Given the description of an element on the screen output the (x, y) to click on. 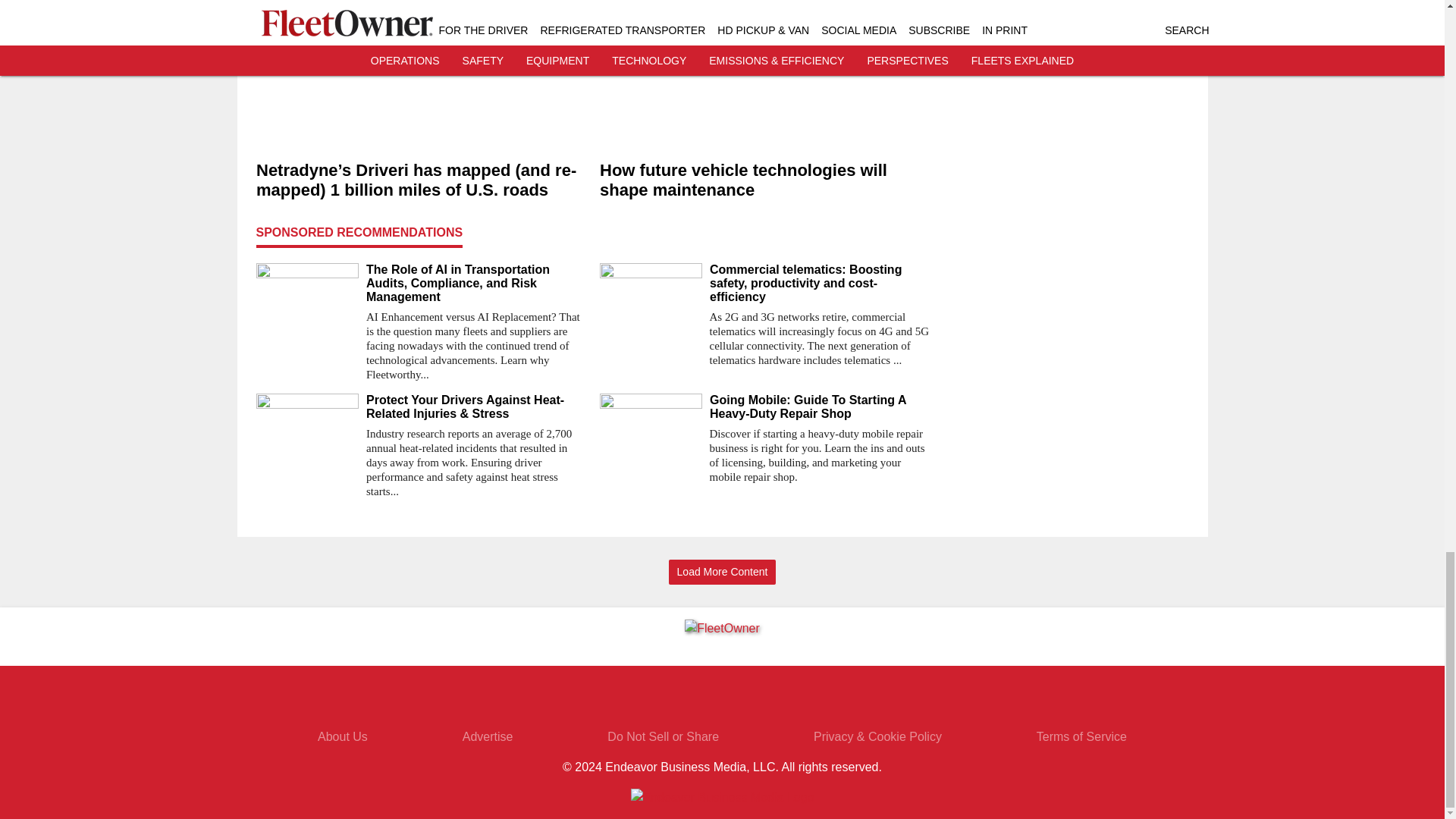
How future vehicle technologies will shape maintenance (764, 179)
Going Mobile: Guide To Starting A Heavy-Duty Repair Shop (820, 406)
